Given the description of an element on the screen output the (x, y) to click on. 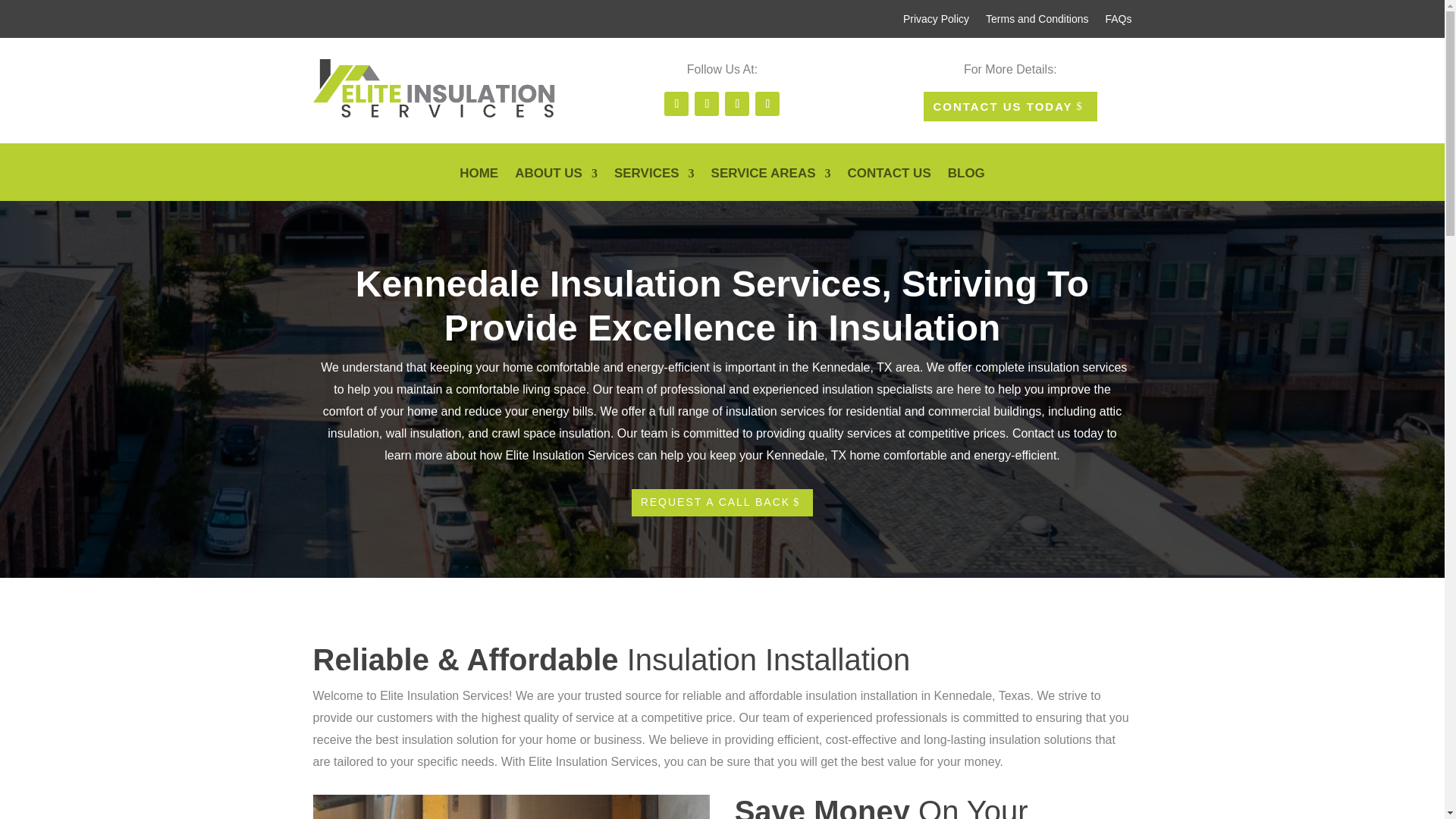
SERVICE AREAS (771, 184)
img3 - Elite Insulation Services (511, 806)
SERVICES (654, 184)
SITELOGONEW (433, 90)
Follow on Twitter (706, 103)
ABOUT US (555, 184)
Terms and Conditions (1036, 21)
HOME (478, 184)
CONTACT US TODAY (1010, 106)
Follow on Instagram (766, 103)
FAQs (1118, 21)
Follow on Facebook (675, 103)
Privacy Policy (935, 21)
